Given the description of an element on the screen output the (x, y) to click on. 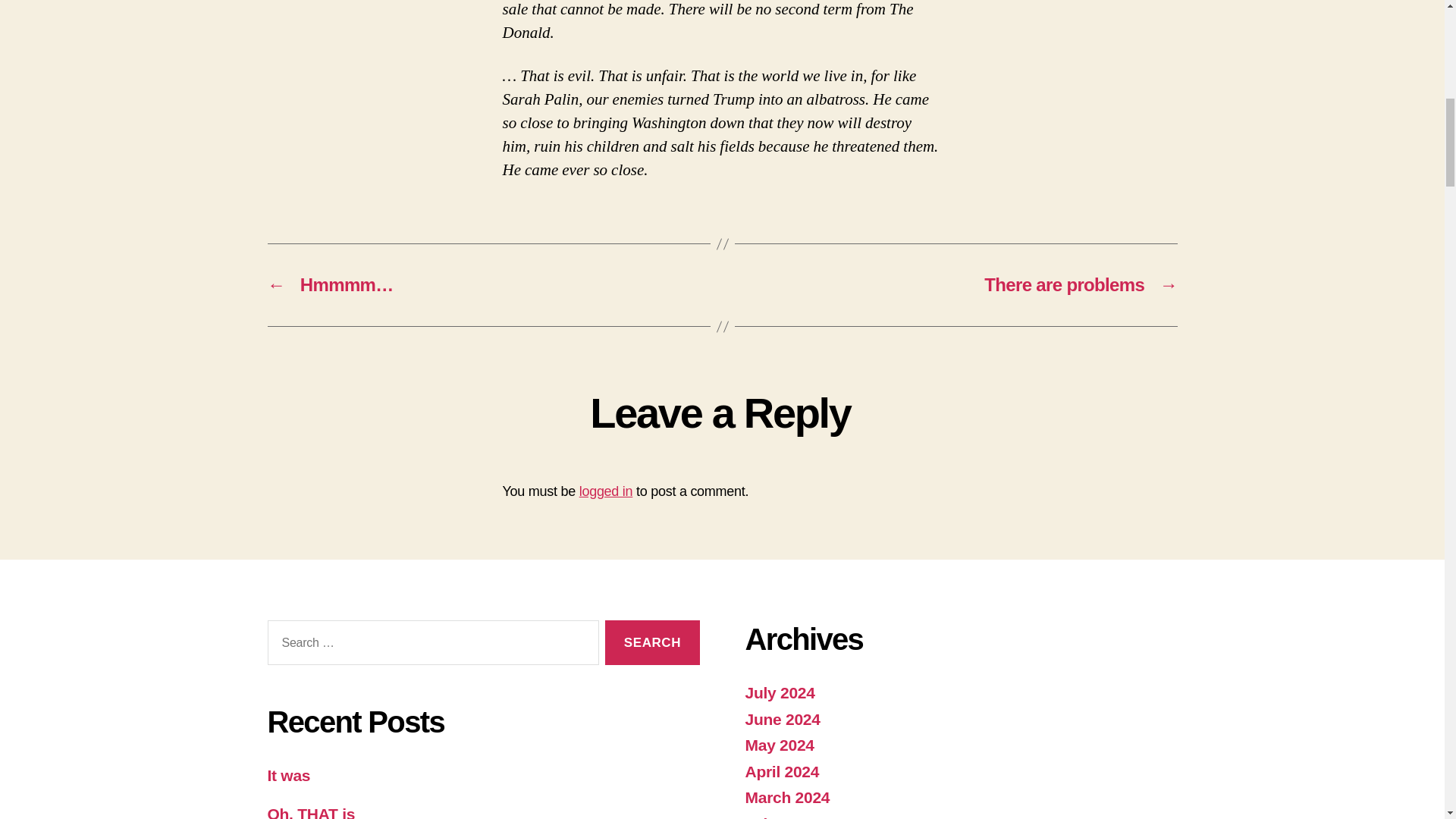
Search (651, 642)
June 2024 (781, 719)
July 2024 (778, 692)
Oh, THAT is (310, 812)
Search (651, 642)
May 2024 (778, 744)
Search (651, 642)
logged in (606, 491)
It was (288, 774)
March 2024 (786, 796)
April 2024 (781, 771)
